Given the description of an element on the screen output the (x, y) to click on. 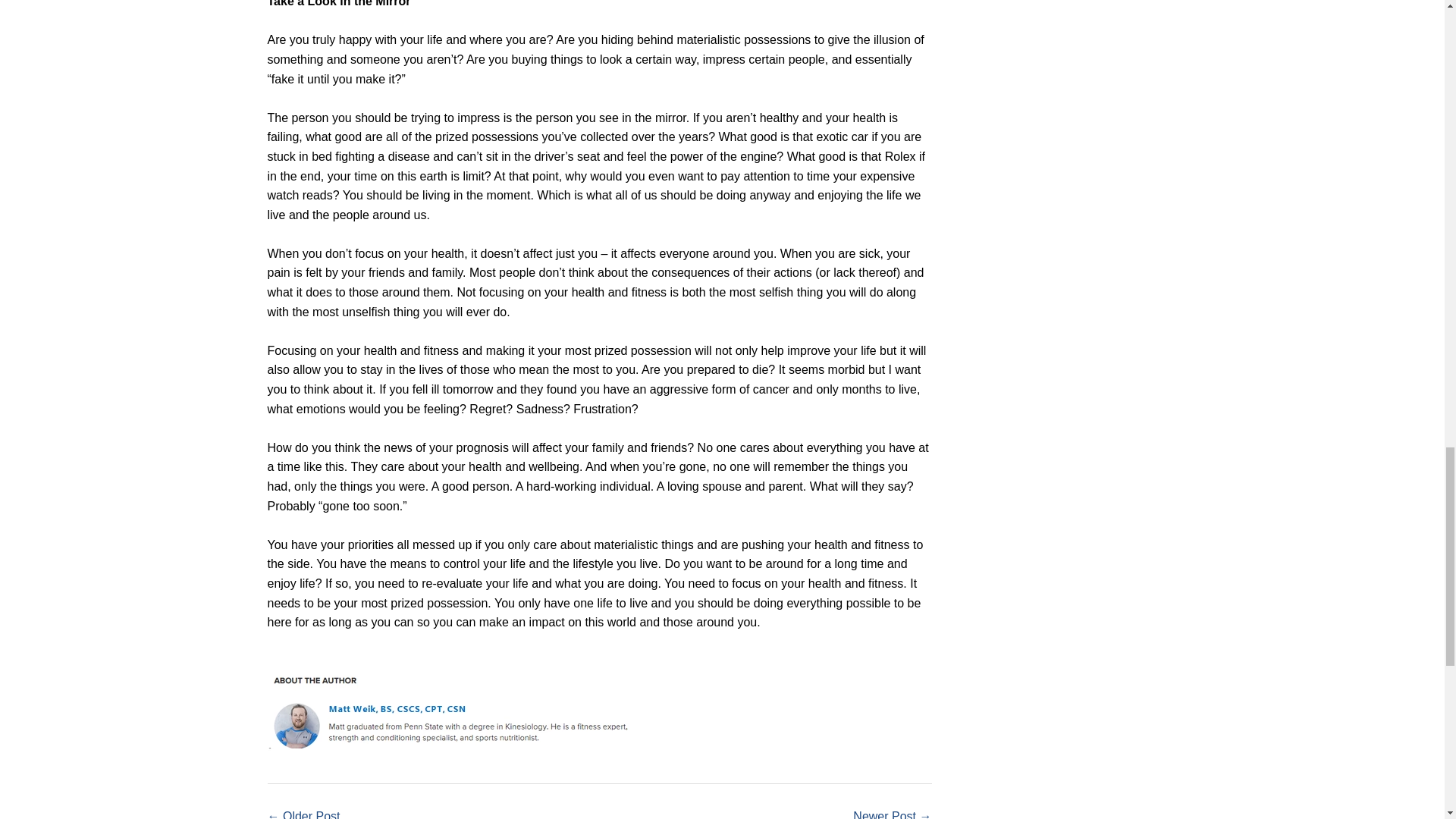
Newer Post (884, 814)
Older Post (311, 814)
